Given the description of an element on the screen output the (x, y) to click on. 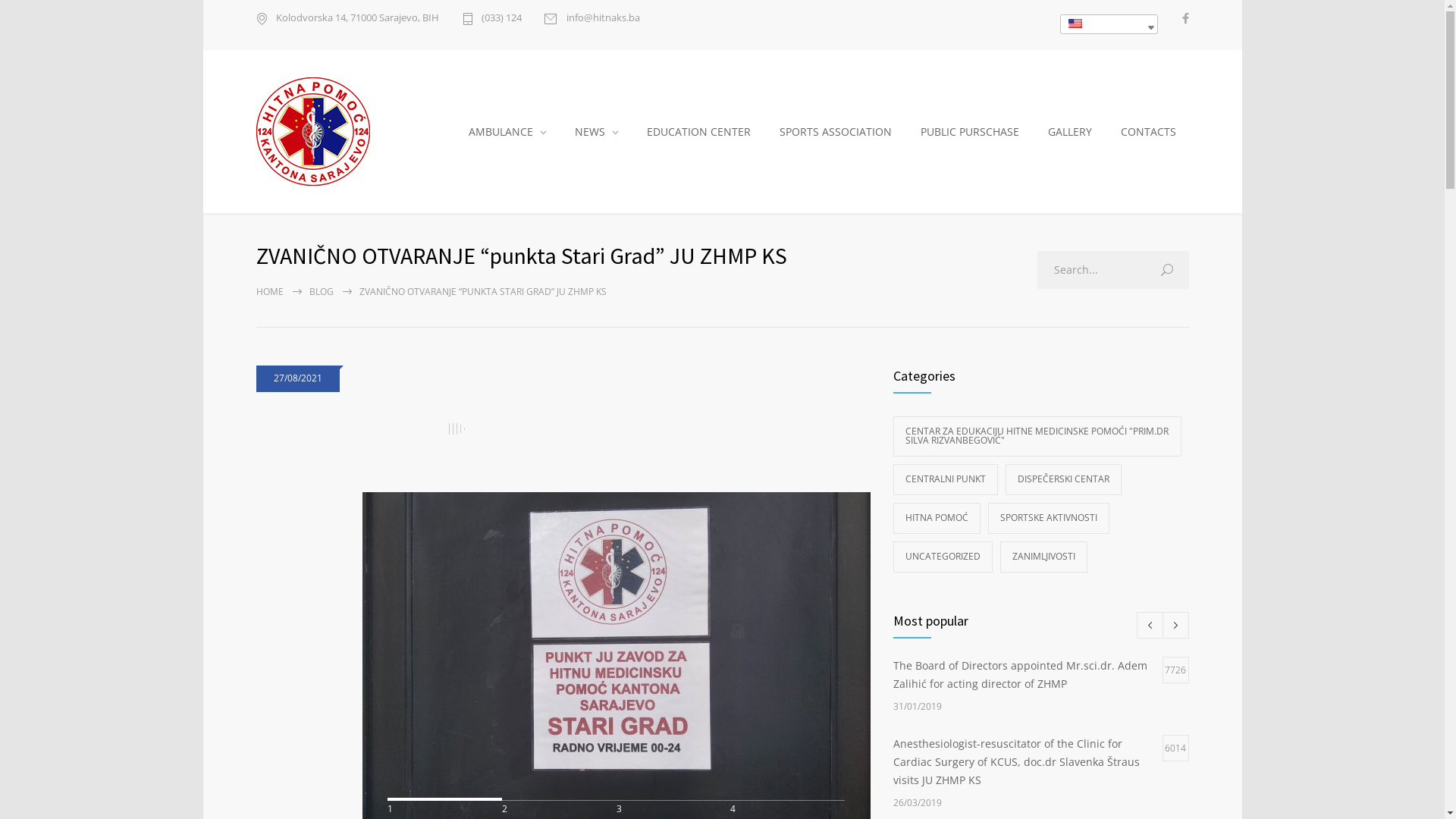
UNCATEGORIZED Element type: text (942, 556)
ZANIMLJIVOSTI Element type: text (1042, 556)
EDUCATION CENTER Element type: text (697, 131)
CENTRALNI PUNKT Element type: text (945, 479)
AMBULANCE Element type: text (507, 131)
GALLERY Element type: text (1069, 131)
PUBLIC PURSCHASE Element type: text (970, 131)
NEWS Element type: text (596, 131)
HOME Element type: text (269, 291)
SPORTS ASSOCIATION Element type: text (835, 131)
BLOG Element type: text (321, 291)
English Element type: hover (1074, 23)
CONTACTS Element type: text (1148, 131)
info@hitnaks.ba Element type: text (592, 18)
English Element type: hover (1074, 24)
SPORTSKE AKTIVNOSTI Element type: text (1047, 517)
